Given the description of an element on the screen output the (x, y) to click on. 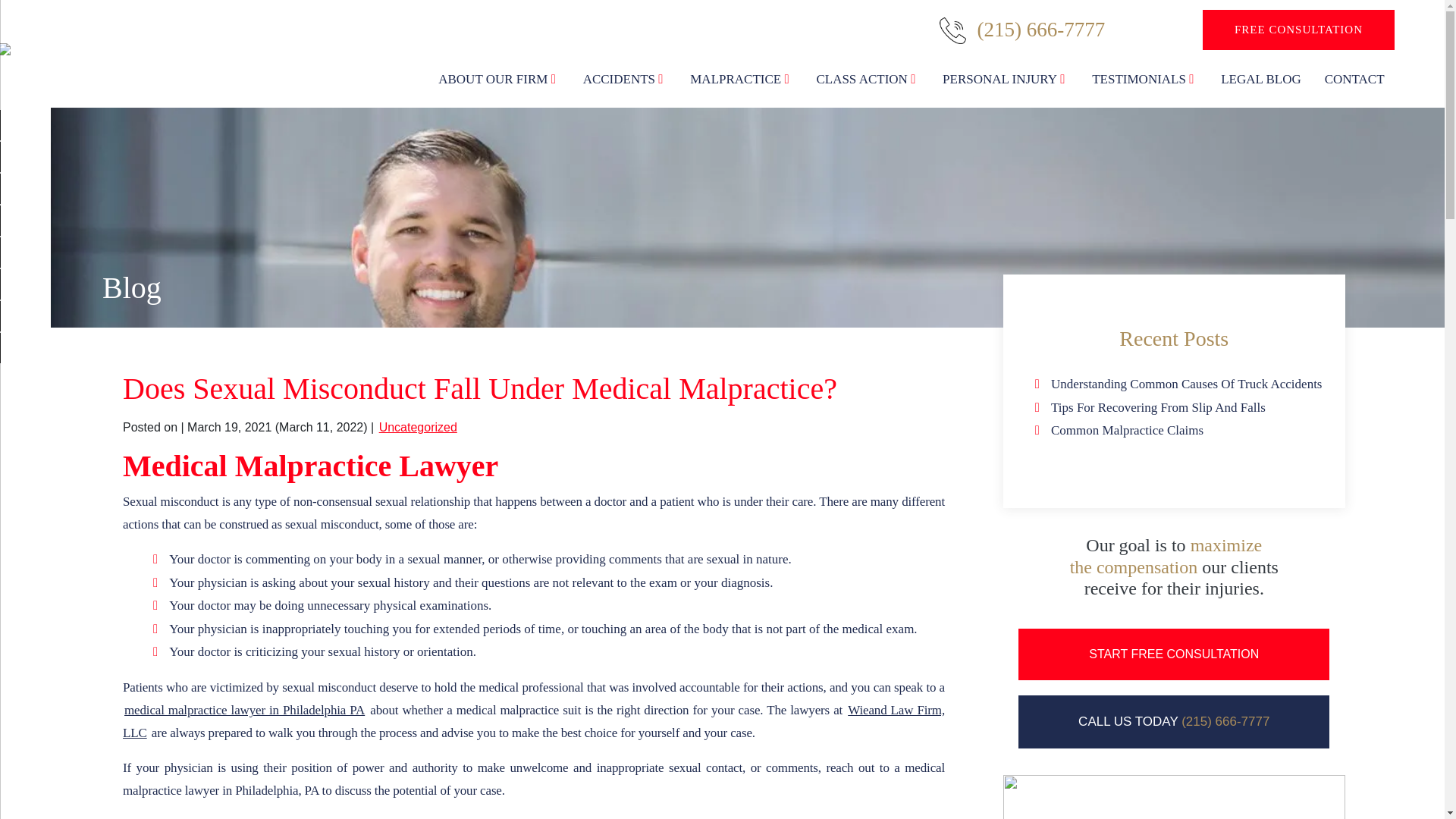
Wieand Law Firm (133, 53)
Accidents (624, 78)
About our Firm (498, 78)
